Given the description of an element on the screen output the (x, y) to click on. 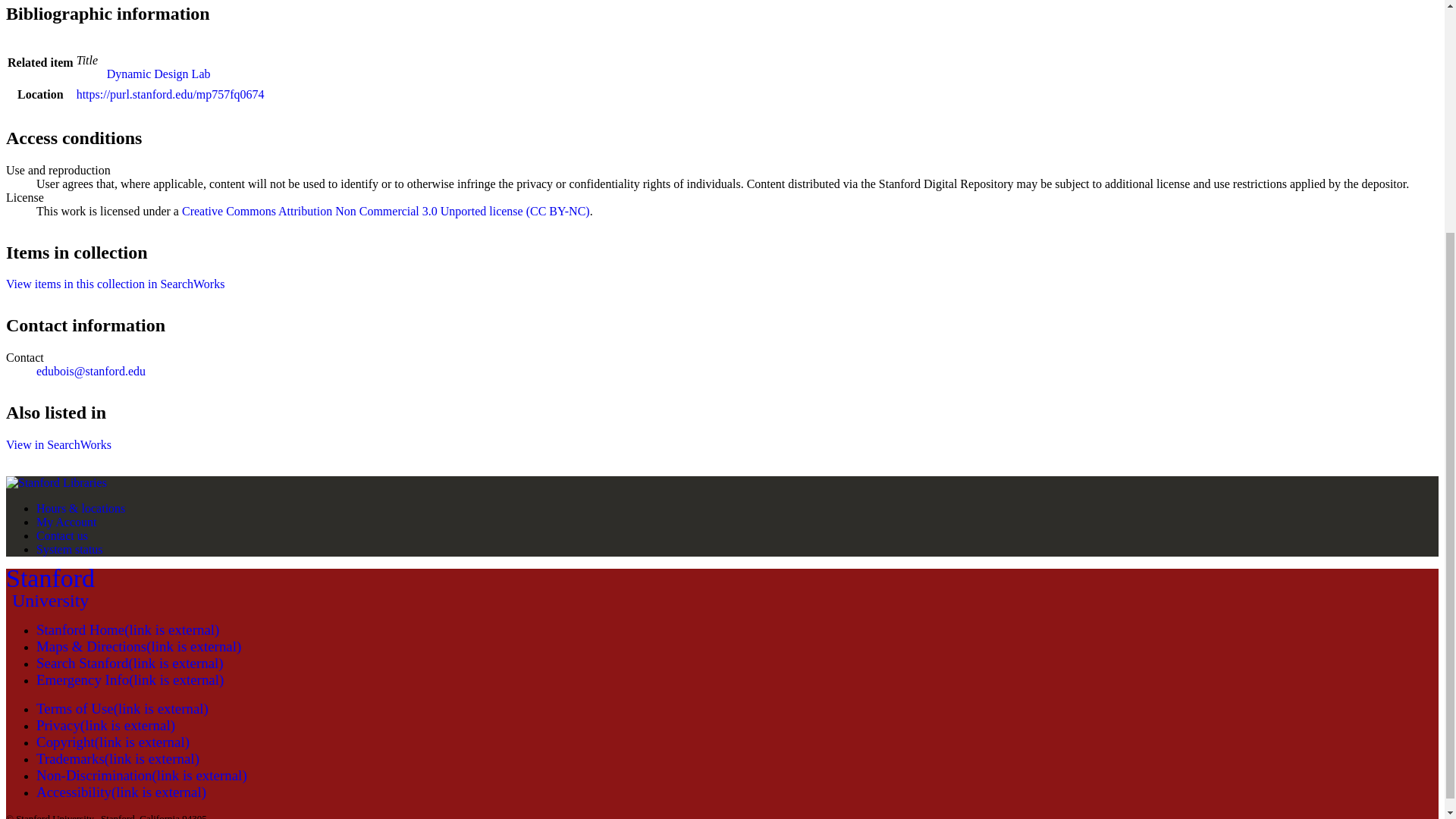
View in SearchWorks (58, 444)
Dynamic Design Lab (158, 73)
Ownership and use of Stanford trademarks and images (117, 758)
Non-discrimination policy (49, 587)
Privacy and cookie policy (141, 774)
Report web accessibility issues (105, 725)
Report alleged copyright infringement (121, 791)
View items in this collection in SearchWorks (112, 741)
My Account (114, 283)
